Given the description of an element on the screen output the (x, y) to click on. 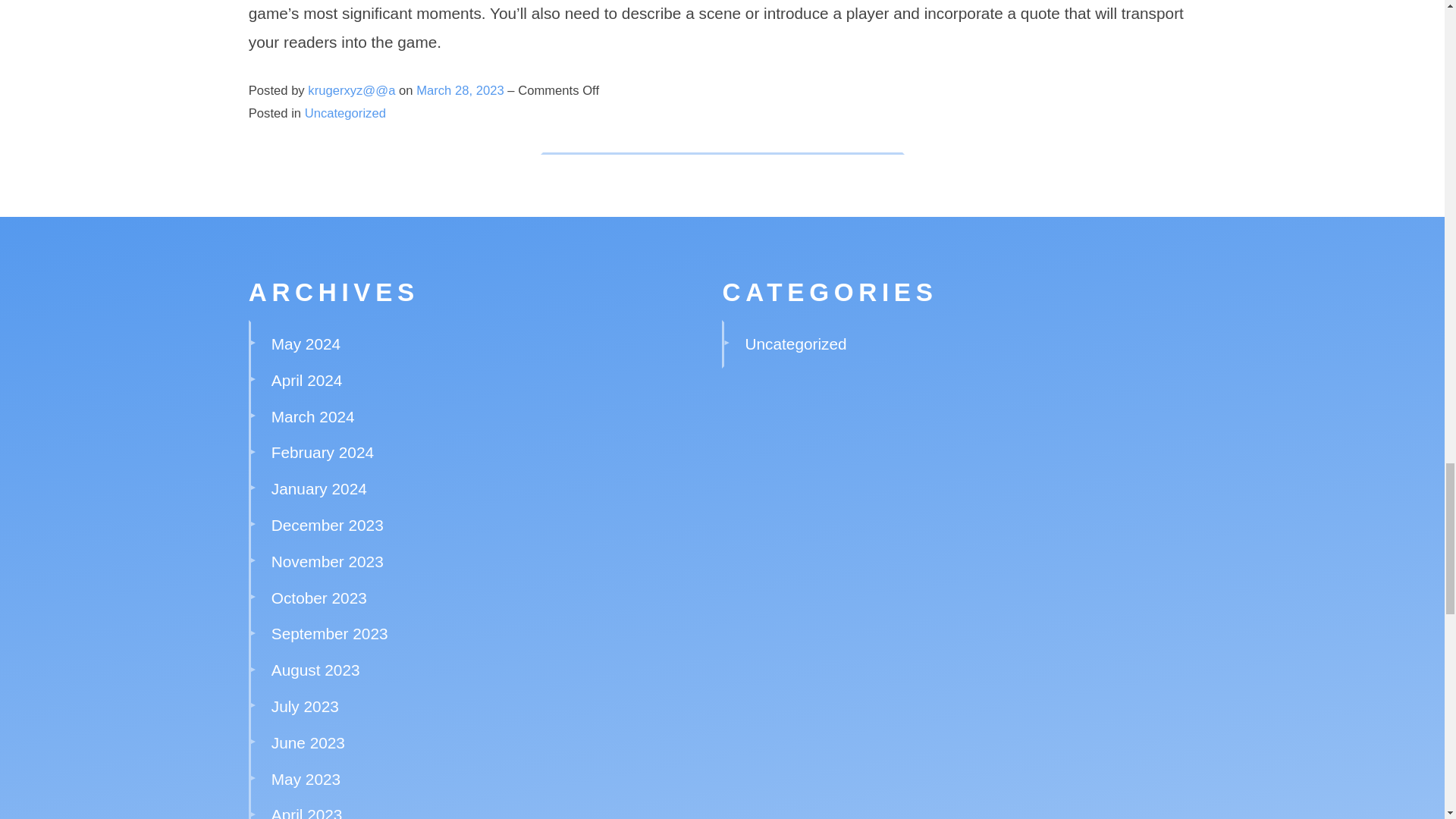
April 2023 (306, 812)
March 28, 2023 (461, 90)
October 2023 (318, 597)
Uncategorized (344, 113)
August 2023 (314, 669)
September 2023 (329, 633)
February 2024 (322, 452)
January 2024 (318, 488)
April 2024 (306, 380)
July 2023 (304, 705)
